Given the description of an element on the screen output the (x, y) to click on. 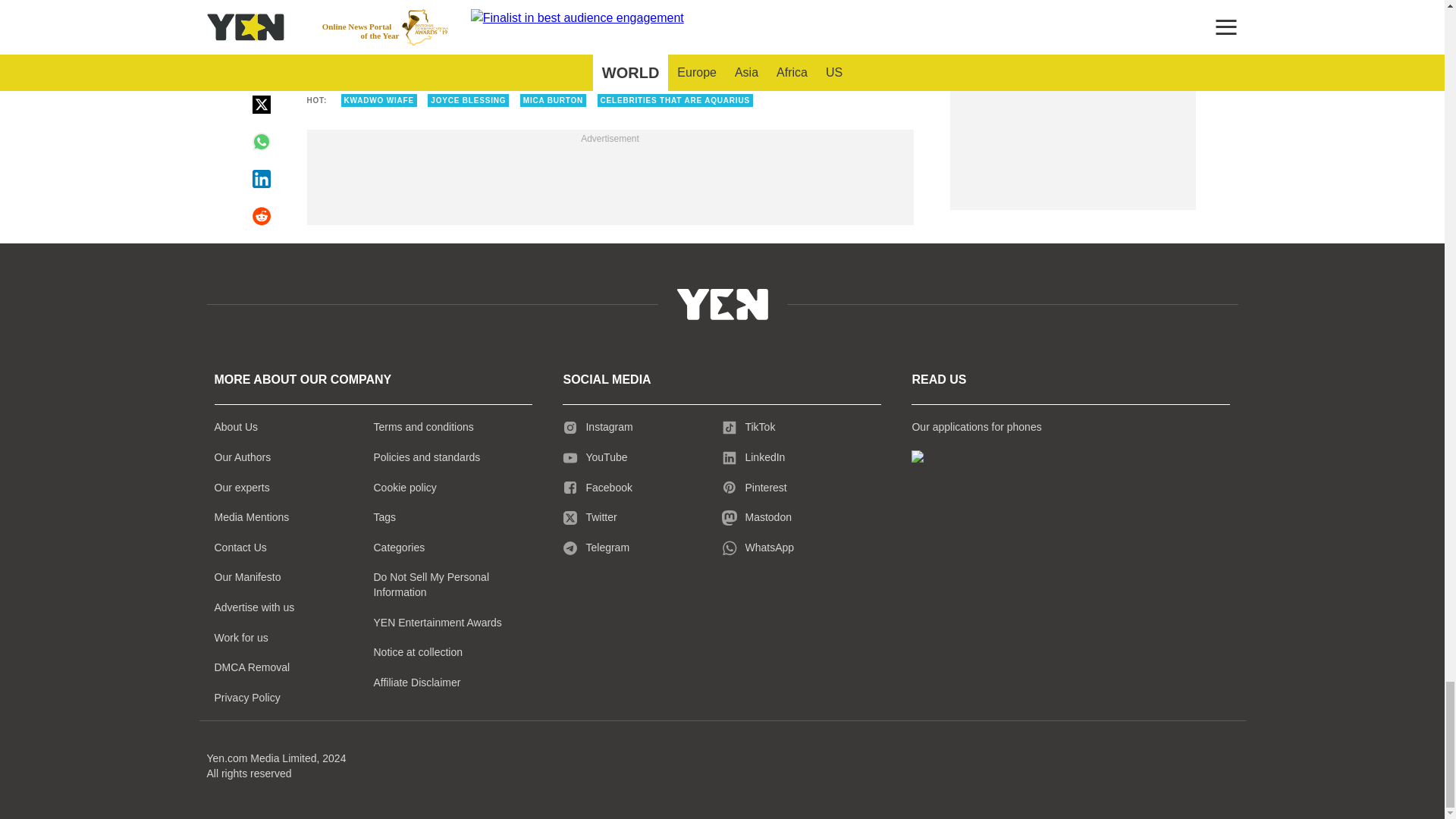
Author page (765, 51)
Author page (453, 51)
